Given the description of an element on the screen output the (x, y) to click on. 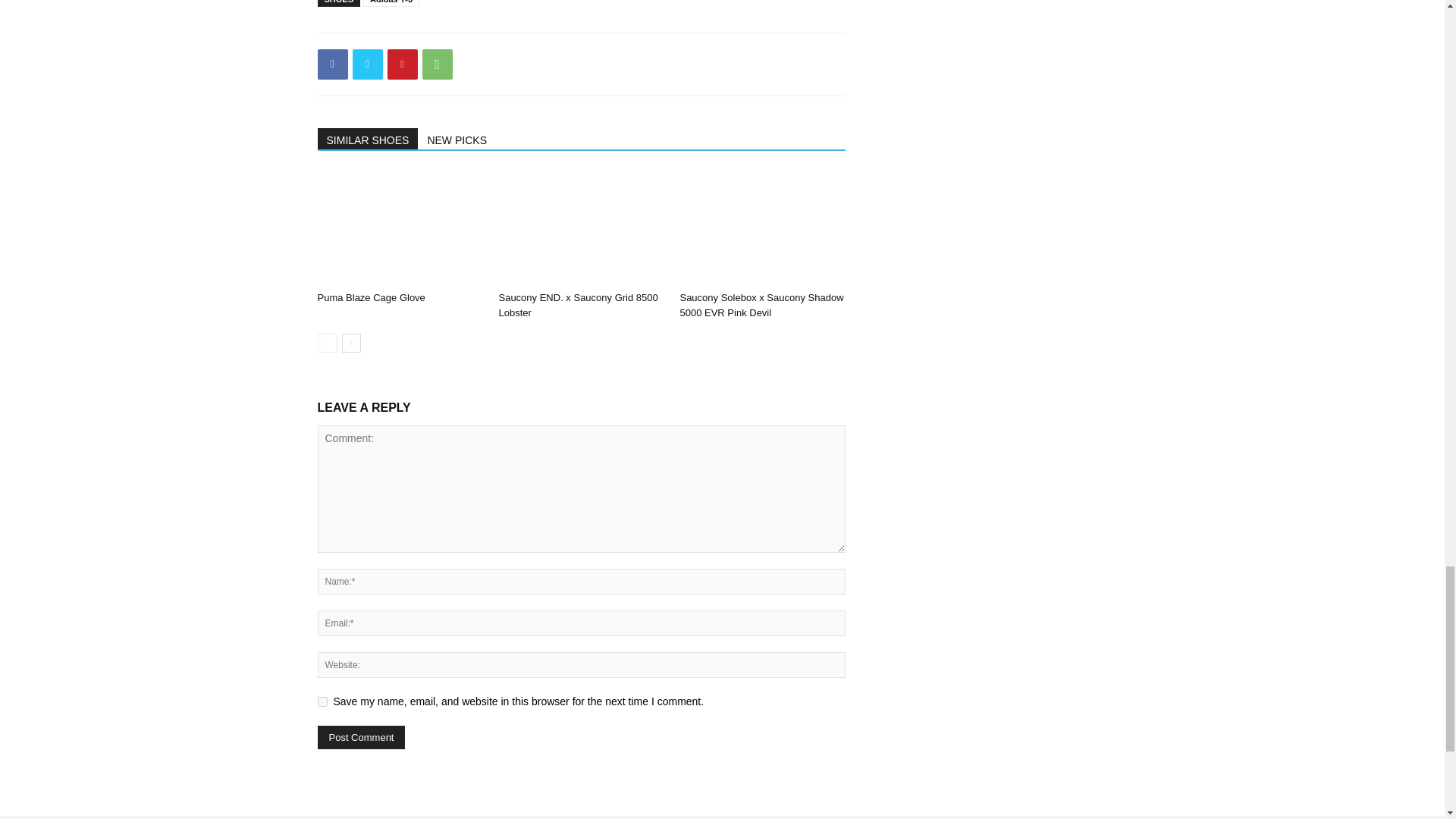
yes (321, 701)
Facebook (332, 64)
Twitter (366, 64)
Pinterest (401, 64)
WhatsApp (436, 64)
Post Comment (360, 737)
